Given the description of an element on the screen output the (x, y) to click on. 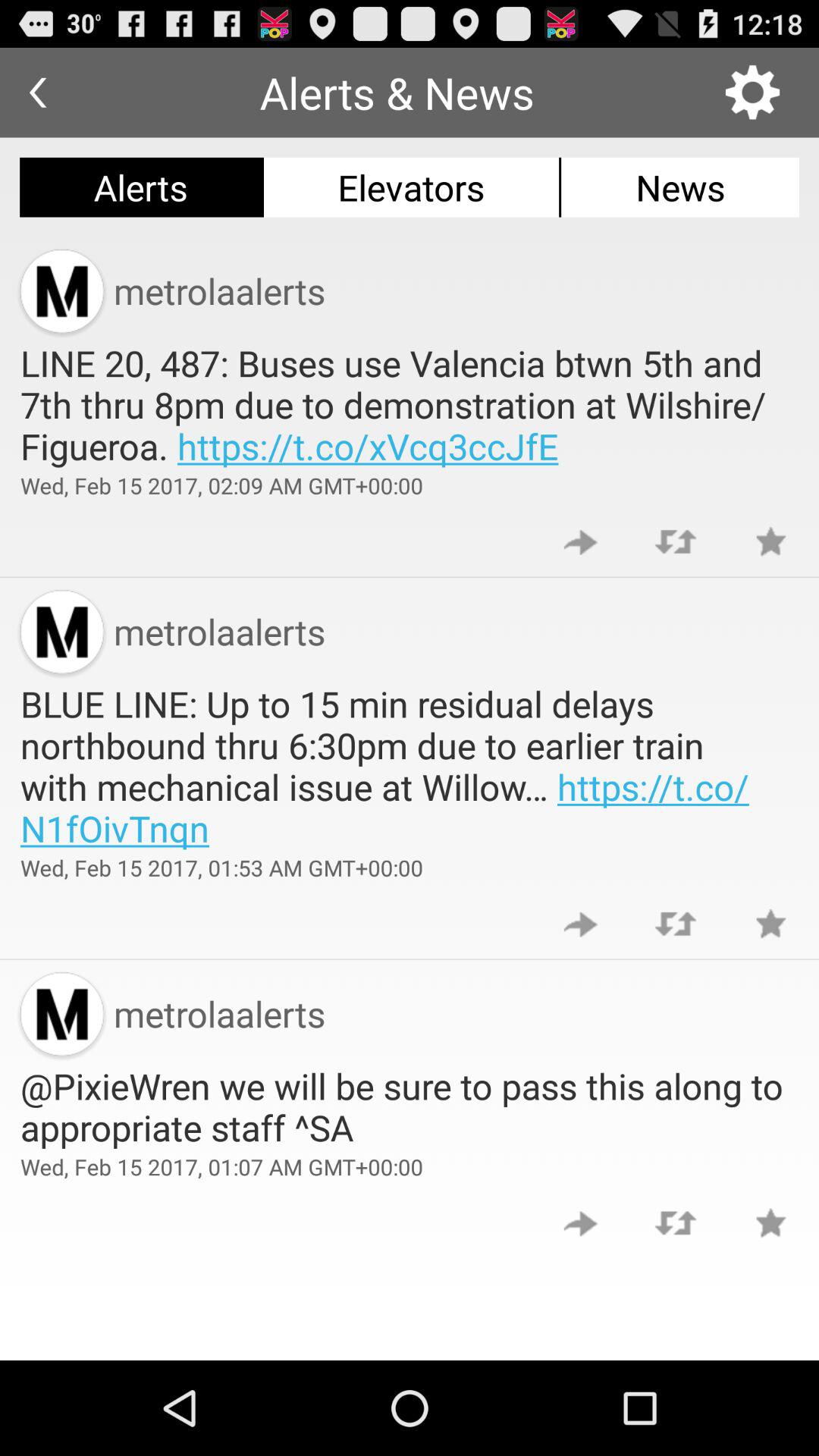
flip to the line 20 487 item (409, 404)
